Given the description of an element on the screen output the (x, y) to click on. 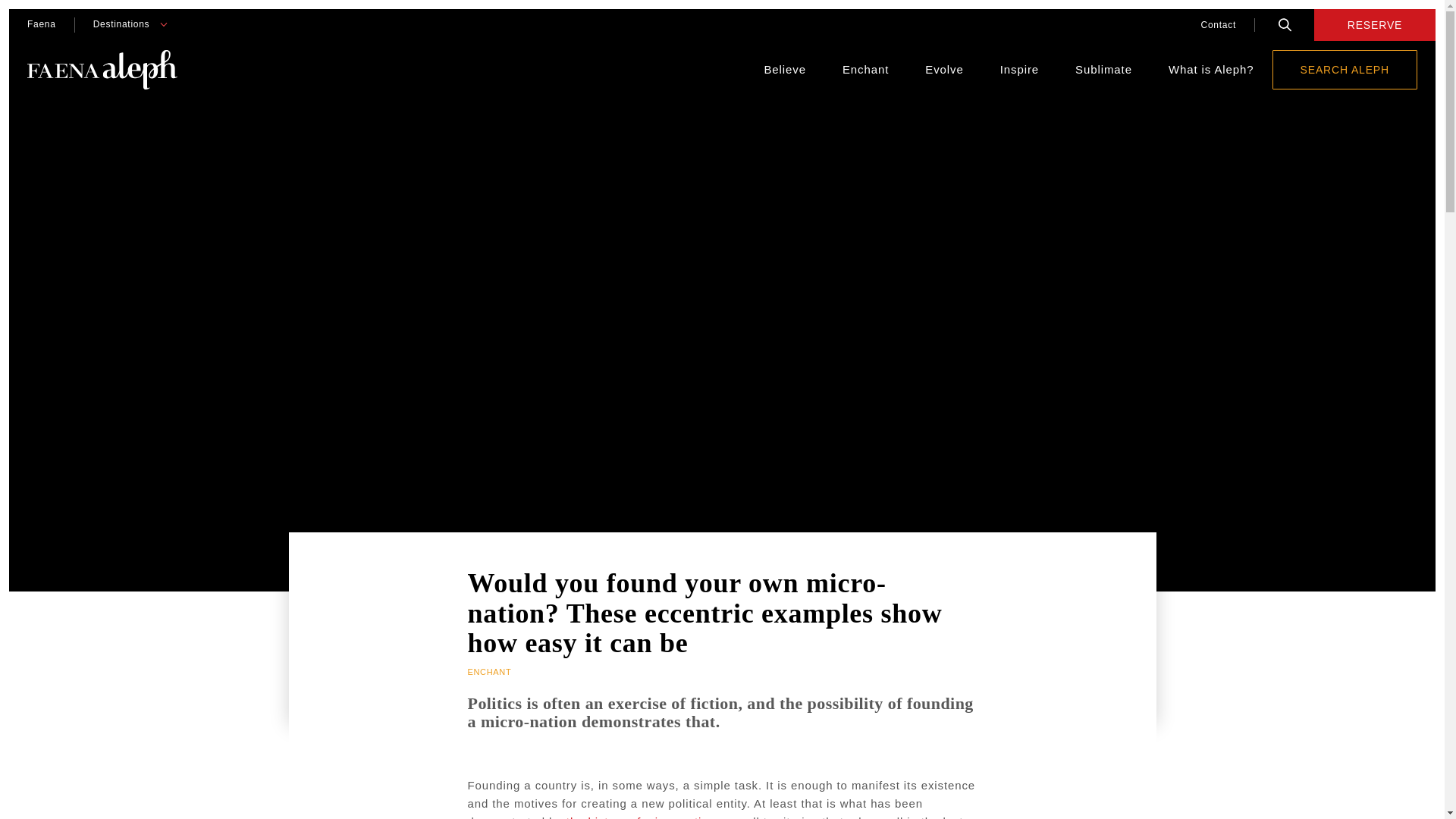
SEARCH ALEPH (1344, 69)
Enchant (865, 69)
the history of micro-nations (644, 816)
Believe (784, 69)
Search (1284, 24)
Sublimate (1103, 69)
Evolve (943, 69)
Inspire (1019, 69)
What is Aleph? (1211, 69)
Destinations (121, 23)
Faena (41, 23)
Contact (1217, 24)
